Given the description of an element on the screen output the (x, y) to click on. 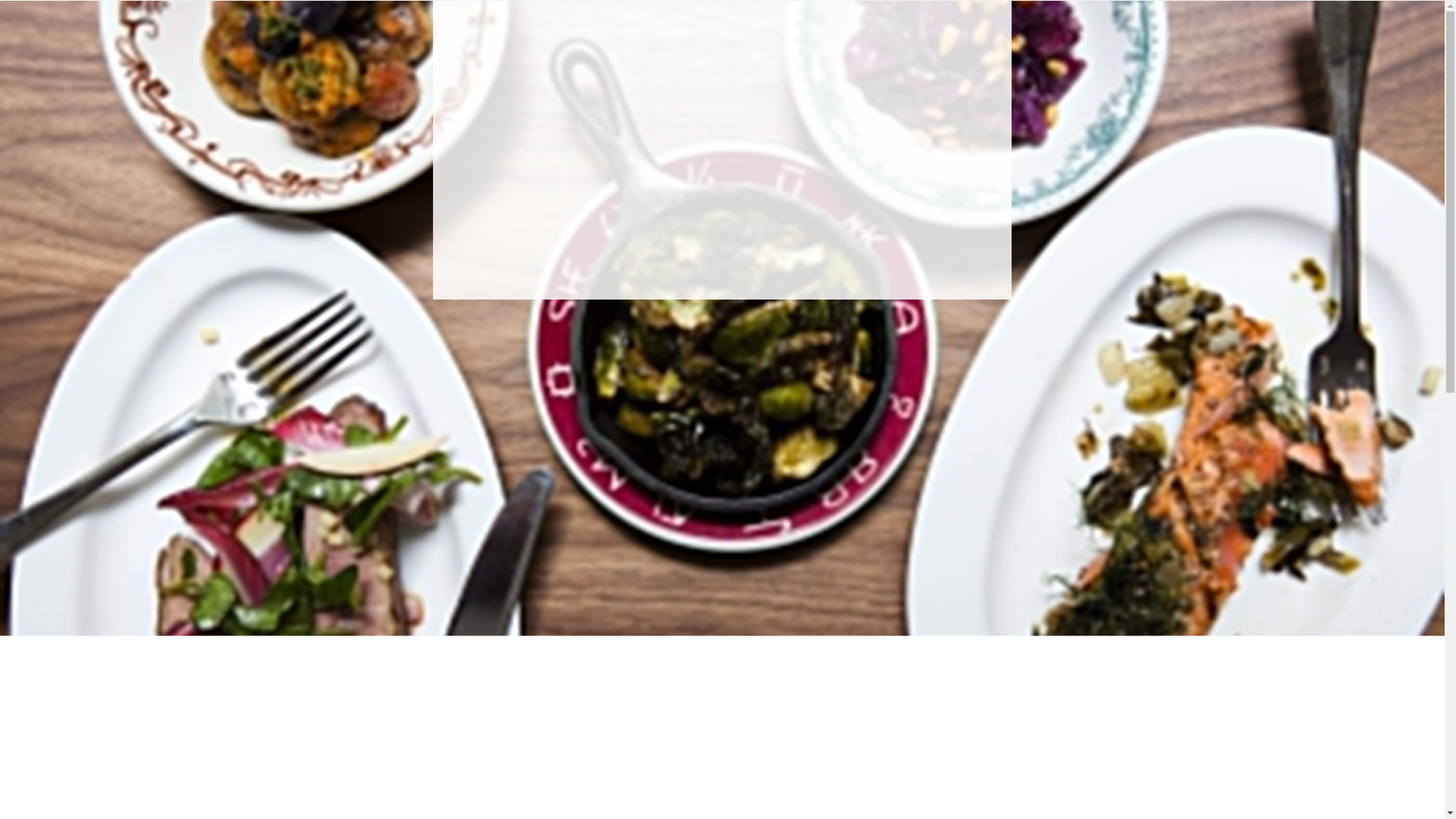
SERVICES (81, 67)
LOCATION (81, 99)
BLOG (81, 224)
BUTTER NYC INSTAGRAM (81, 336)
ABOUT SOLLY ASSA (81, 130)
OUR TEAM (81, 162)
CASSA RESIDENCES INSTAGRAM (81, 296)
IN THE PRESS (81, 193)
CONTACT US (81, 256)
HOME (81, 35)
